Given the description of an element on the screen output the (x, y) to click on. 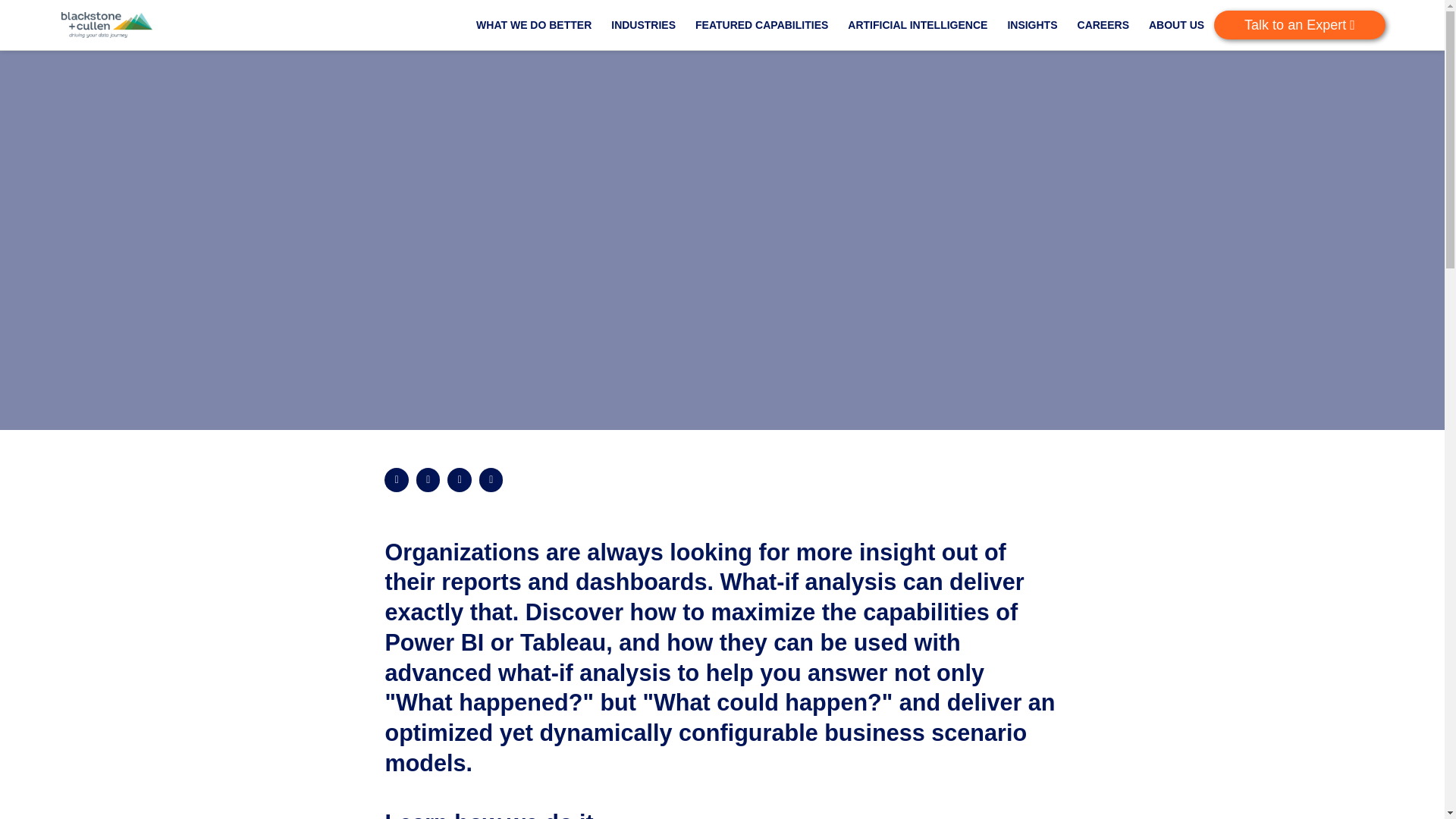
CAREERS (1102, 24)
WHAT WE DO BETTER (533, 24)
ARTIFICIAL INTELLIGENCE (917, 24)
INSIGHTS (1032, 24)
FEATURED CAPABILITIES (761, 24)
INDUSTRIES (643, 24)
